Given the description of an element on the screen output the (x, y) to click on. 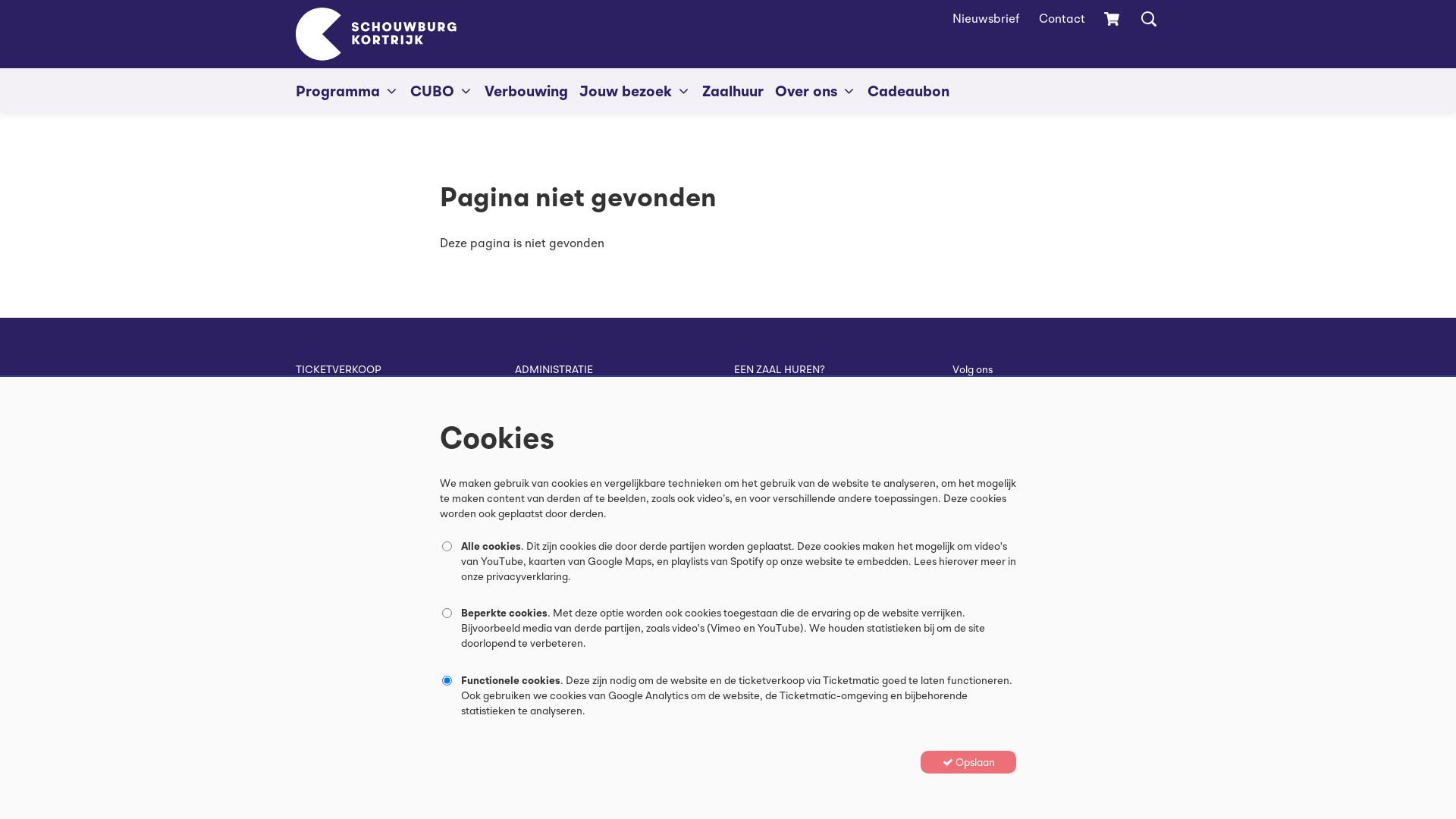
Privacyverklaring Element type: text (778, 477)
Over ons Element type: text (815, 90)
Veelgestelde vragen Element type: text (784, 492)
Meer info Element type: text (757, 439)
Zaalhuur Element type: text (732, 90)
Cadeaubon Element type: text (908, 90)
Jouw bezoek Element type: text (634, 90)
Opslaan Element type: text (968, 761)
Technische fiches Element type: text (778, 523)
Programma Element type: text (346, 90)
Mail Element type: text (525, 470)
Verbouwing Element type: text (525, 90)
Mail  Element type: text (306, 508)
Verkoopsvoorwaarden Element type: text (790, 508)
CUBO Element type: text (441, 90)
Inschrijven Element type: text (1000, 490)
Contact Element type: text (1061, 18)
Peppered Element type: text (973, 727)
Openingsuren Element type: text (329, 492)
Ga naar homepage Element type: hover (375, 33)
Nieuwsbrief Element type: text (985, 18)
